Given the description of an element on the screen output the (x, y) to click on. 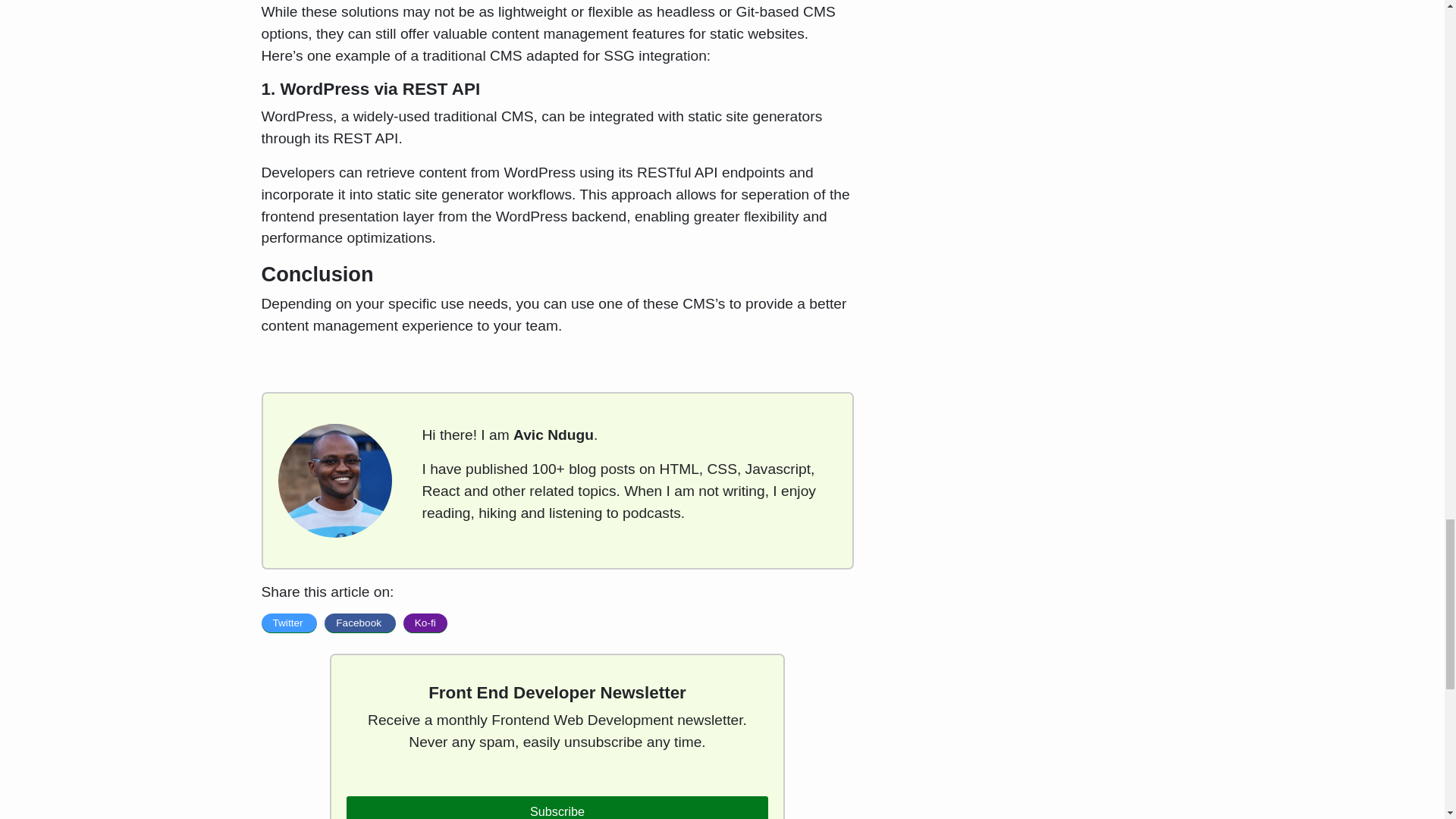
Facebook (359, 623)
Subscribe (557, 807)
Share on Facebook (359, 623)
Share on Twitter (288, 623)
Ko-fi (424, 623)
Twitter (288, 623)
